Given the description of an element on the screen output the (x, y) to click on. 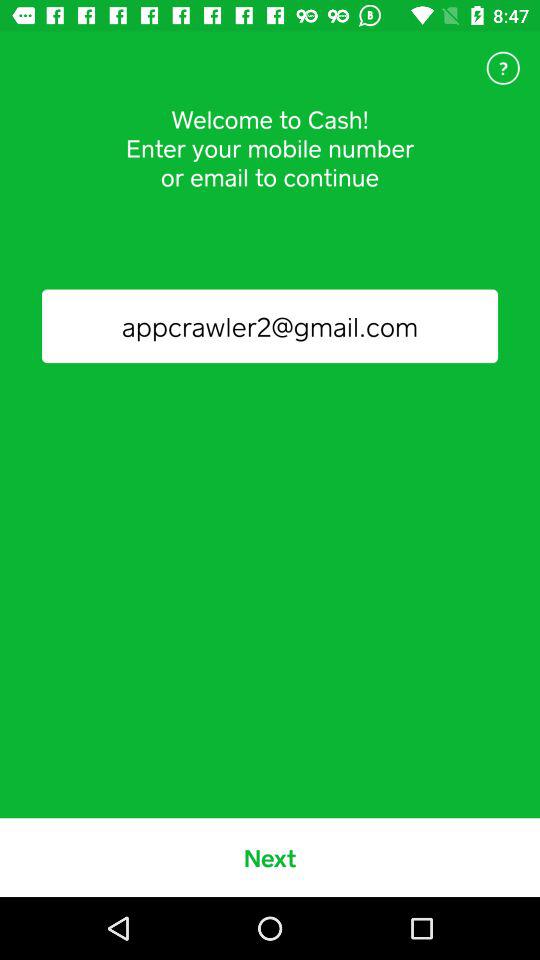
turn on item below the appcrawler2@gmail.com icon (270, 857)
